Given the description of an element on the screen output the (x, y) to click on. 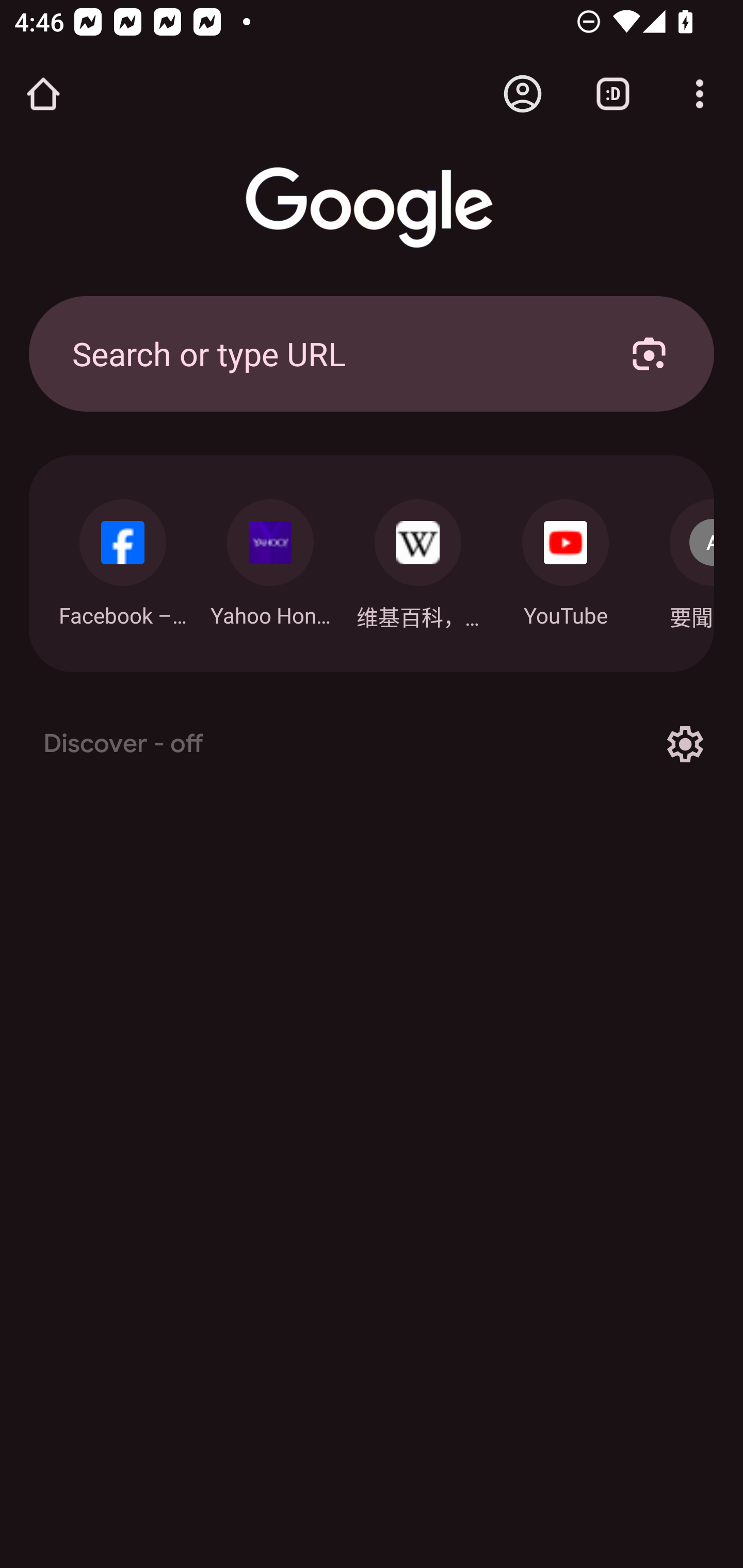
Open the home page (43, 93)
Switch or close tabs (612, 93)
Customize and control Google Chrome (699, 93)
Search or type URL (327, 353)
Search with your camera using Google Lens (648, 353)
Navigate: YouTube: m.youtube.com YouTube (565, 558)
Options for Discover (684, 743)
